Given the description of an element on the screen output the (x, y) to click on. 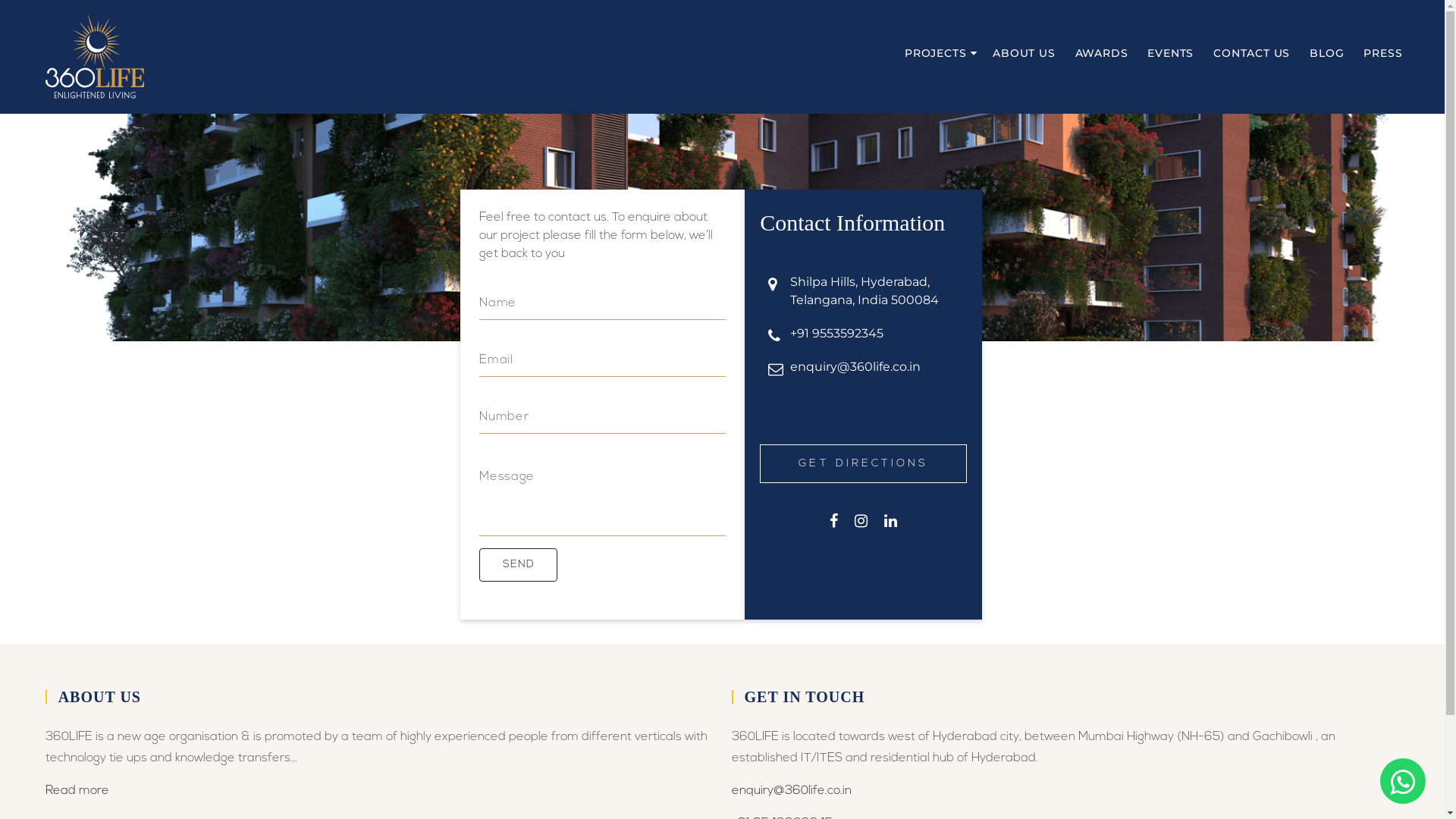
ABOUT US Element type: text (1025, 53)
AWARDS Element type: text (1103, 53)
Read more Element type: text (77, 790)
SEND Element type: text (518, 564)
enquiry@360life.co.in Element type: text (855, 366)
enquiry@360life.co.in Element type: text (790, 790)
CONTACT US Element type: text (1253, 53)
PRESS Element type: text (1384, 53)
BLOG Element type: text (1328, 53)
GET DIRECTIONS Element type: text (862, 463)
EVENTS Element type: text (1172, 53)
+91 9553592345 Element type: text (836, 333)
PROJECTS Element type: text (941, 53)
